Given the description of an element on the screen output the (x, y) to click on. 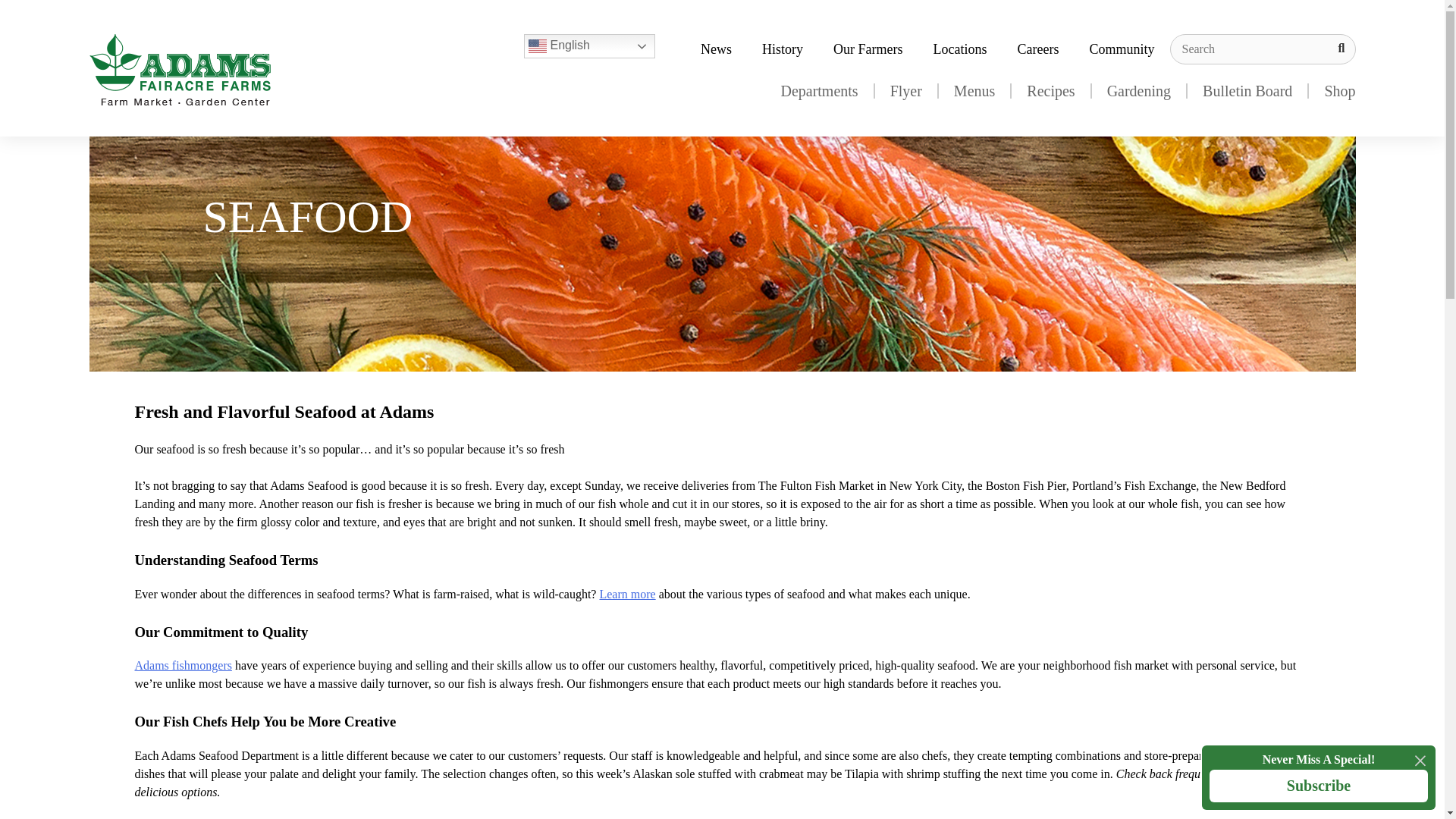
English (589, 46)
Shop (1331, 90)
Flyer (906, 90)
Careers (1038, 48)
Gardening (1139, 90)
History (782, 48)
Popup CTA (1318, 777)
Community (1121, 48)
Recipes (1050, 90)
Our Farmers (867, 48)
News (715, 48)
Locations (960, 48)
Bulletin Board (1247, 90)
Departments (818, 90)
